Given the description of an element on the screen output the (x, y) to click on. 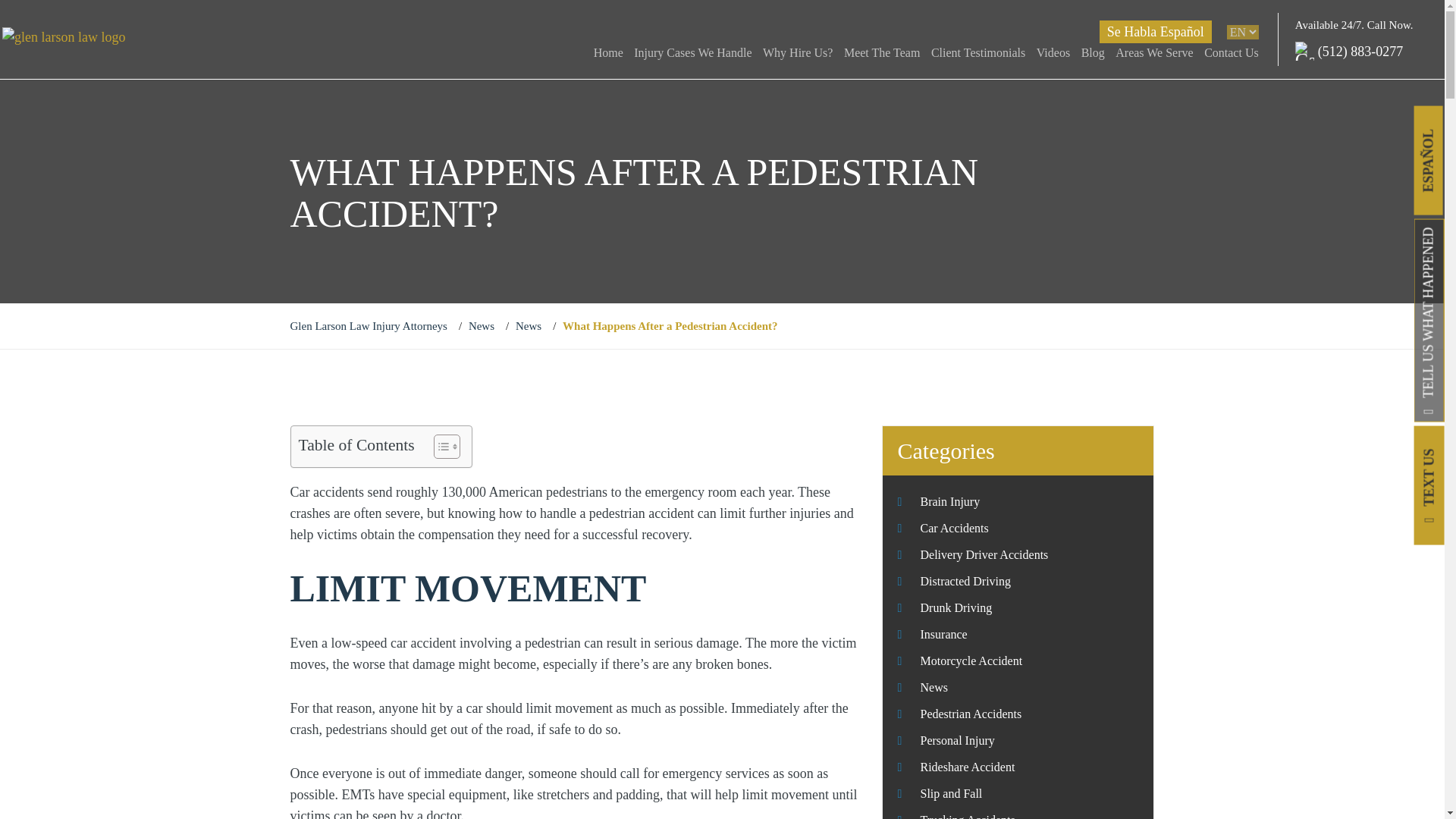
Glen Larson Law Injury Attorneys (367, 326)
Injury Cases We Handle (692, 53)
Home (608, 53)
What Happens After a Pedestrian Accident? (669, 326)
